Given the description of an element on the screen output the (x, y) to click on. 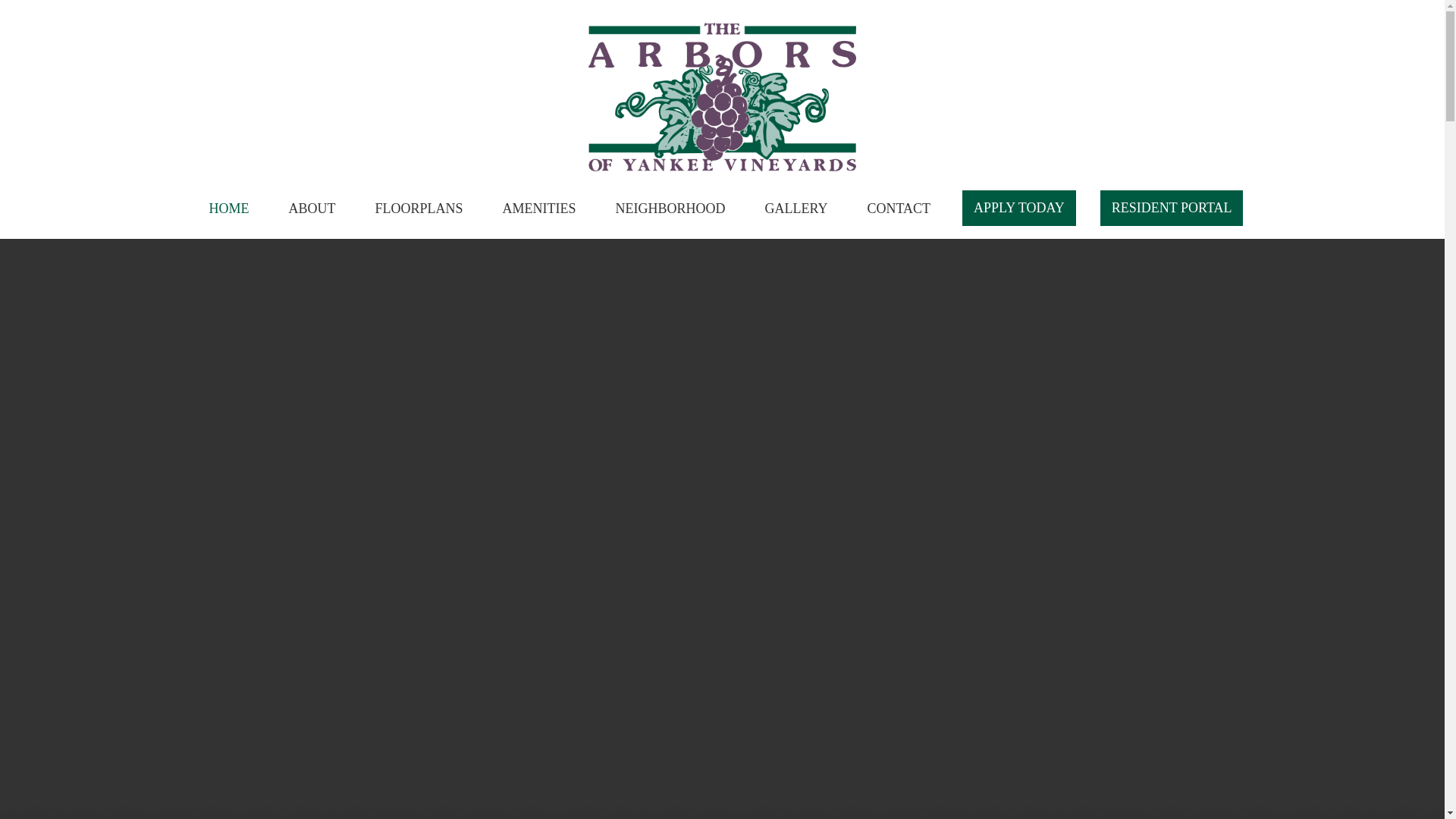
NEIGHBORHOOD (670, 208)
CONTACT (899, 208)
ABOUT (311, 208)
HOME (229, 208)
FLOORPLANS (418, 208)
APPLY TODAY (1018, 208)
AMENITIES (539, 208)
RESIDENT PORTAL (1171, 208)
GALLERY (796, 208)
